Given the description of an element on the screen output the (x, y) to click on. 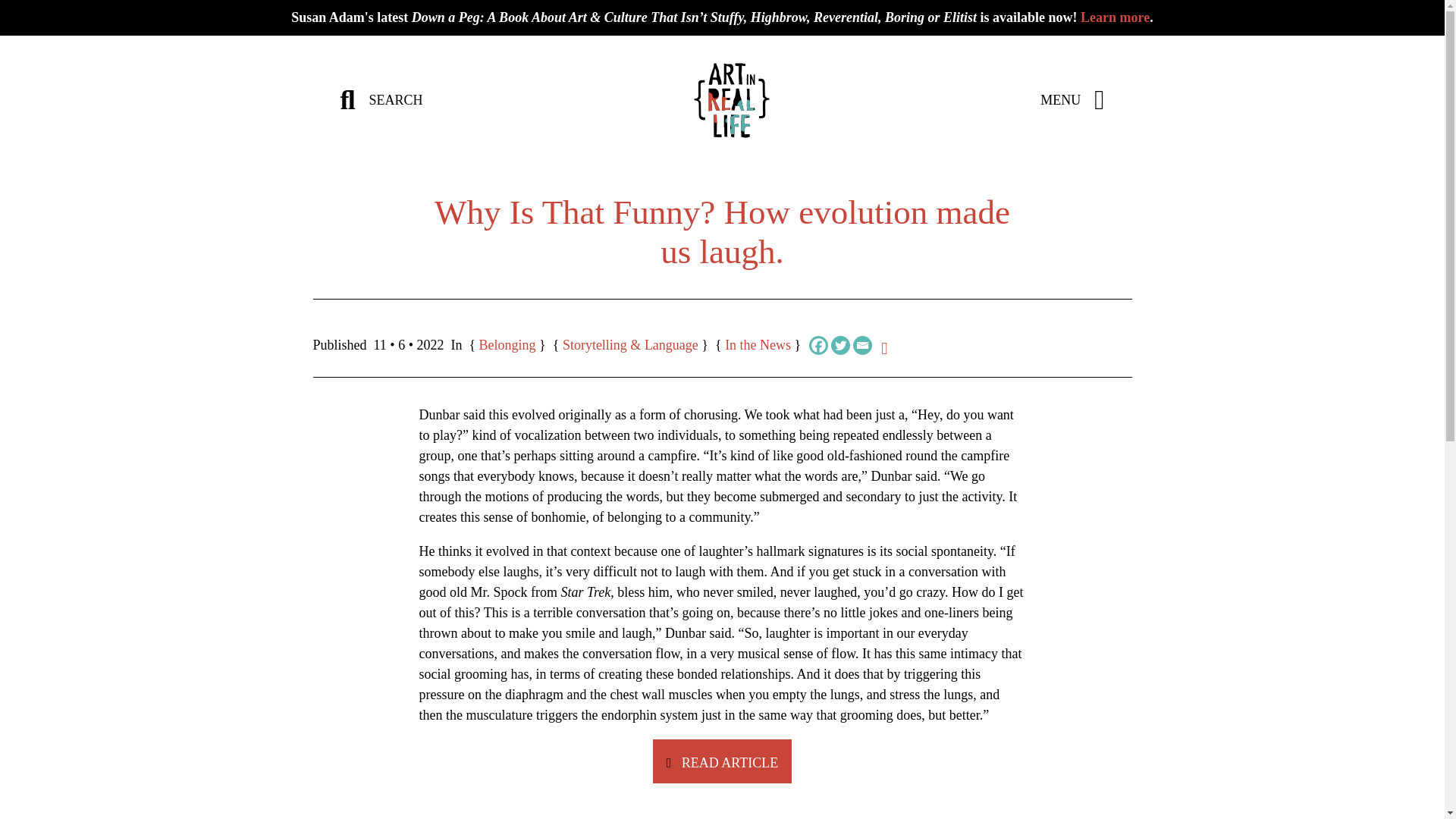
ARL Logo (732, 100)
Aggregator article archives (757, 344)
Twitter (840, 344)
Email (862, 344)
See all posts in 'Belonging' (507, 344)
Learn more (1115, 17)
Open external article in a new tab. (722, 761)
Facebook (818, 344)
